Given the description of an element on the screen output the (x, y) to click on. 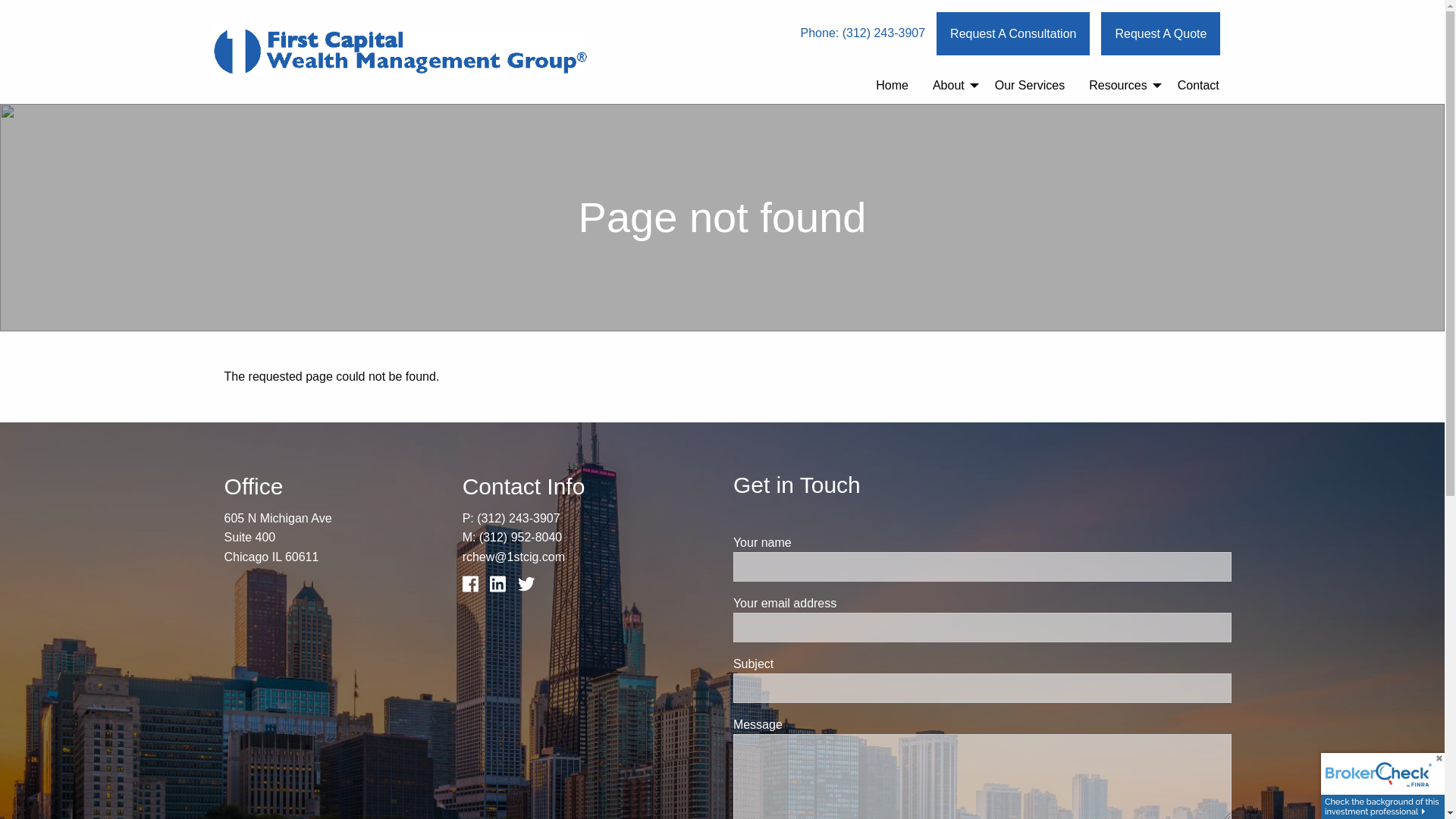
Request A Quote Element type: text (1160, 33)
Our Services Element type: text (1029, 85)
  Element type: text (501, 587)
Skip to main content Element type: text (0, 0)
  Element type: text (529, 587)
Contact Element type: text (1198, 85)
Request A Consultation Element type: text (1012, 33)
Resources Element type: text (1120, 85)
Phone: (312) 243-3907 Element type: text (862, 32)
  Element type: text (474, 587)
About Element type: text (951, 85)
Home Element type: text (891, 85)
